Given the description of an element on the screen output the (x, y) to click on. 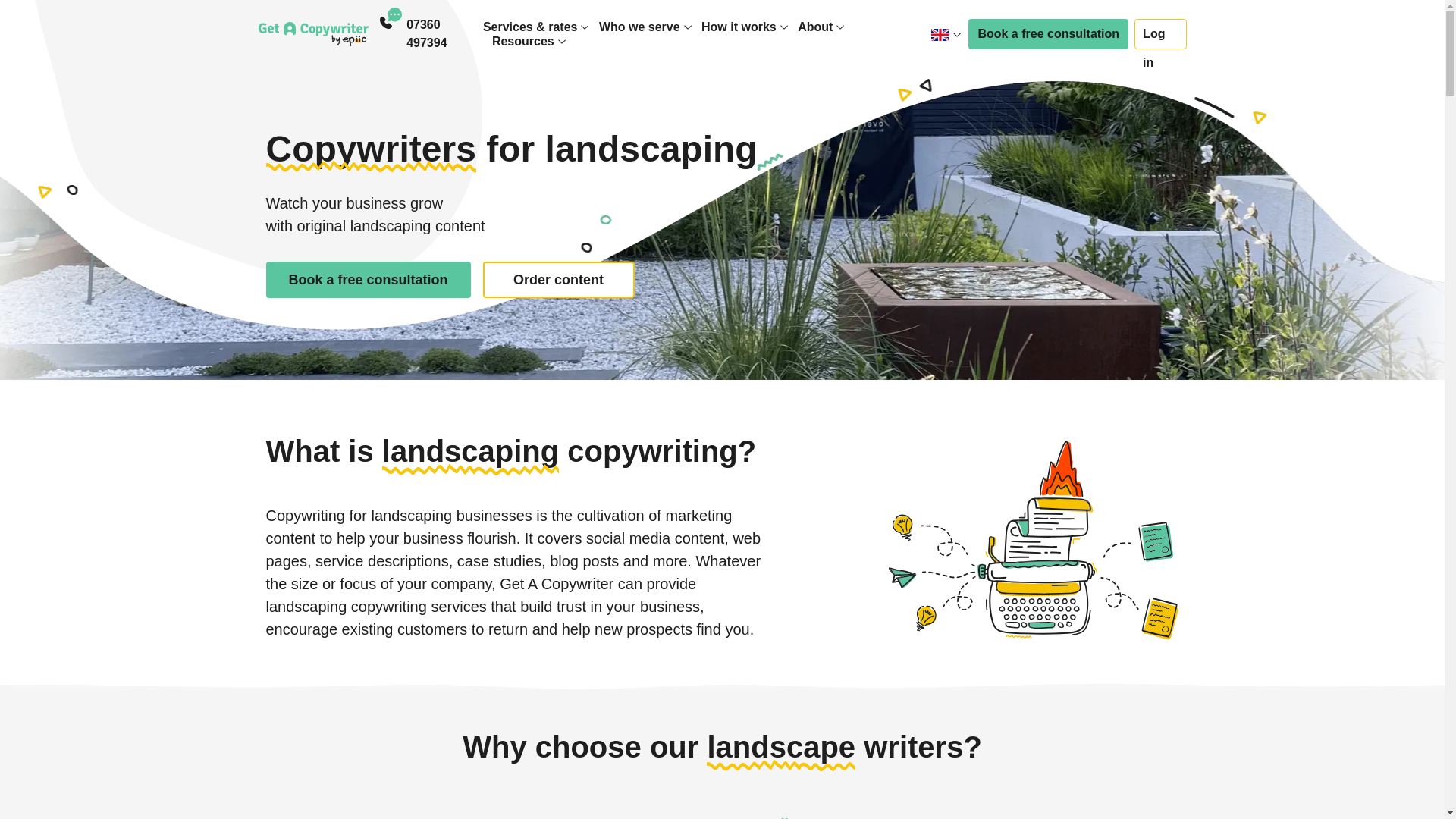
Resources (523, 41)
About (814, 26)
How it works (738, 26)
Who we serve (638, 26)
07360 497394 (444, 33)
phone number (444, 33)
Get a copywriter (312, 33)
